Given the description of an element on the screen output the (x, y) to click on. 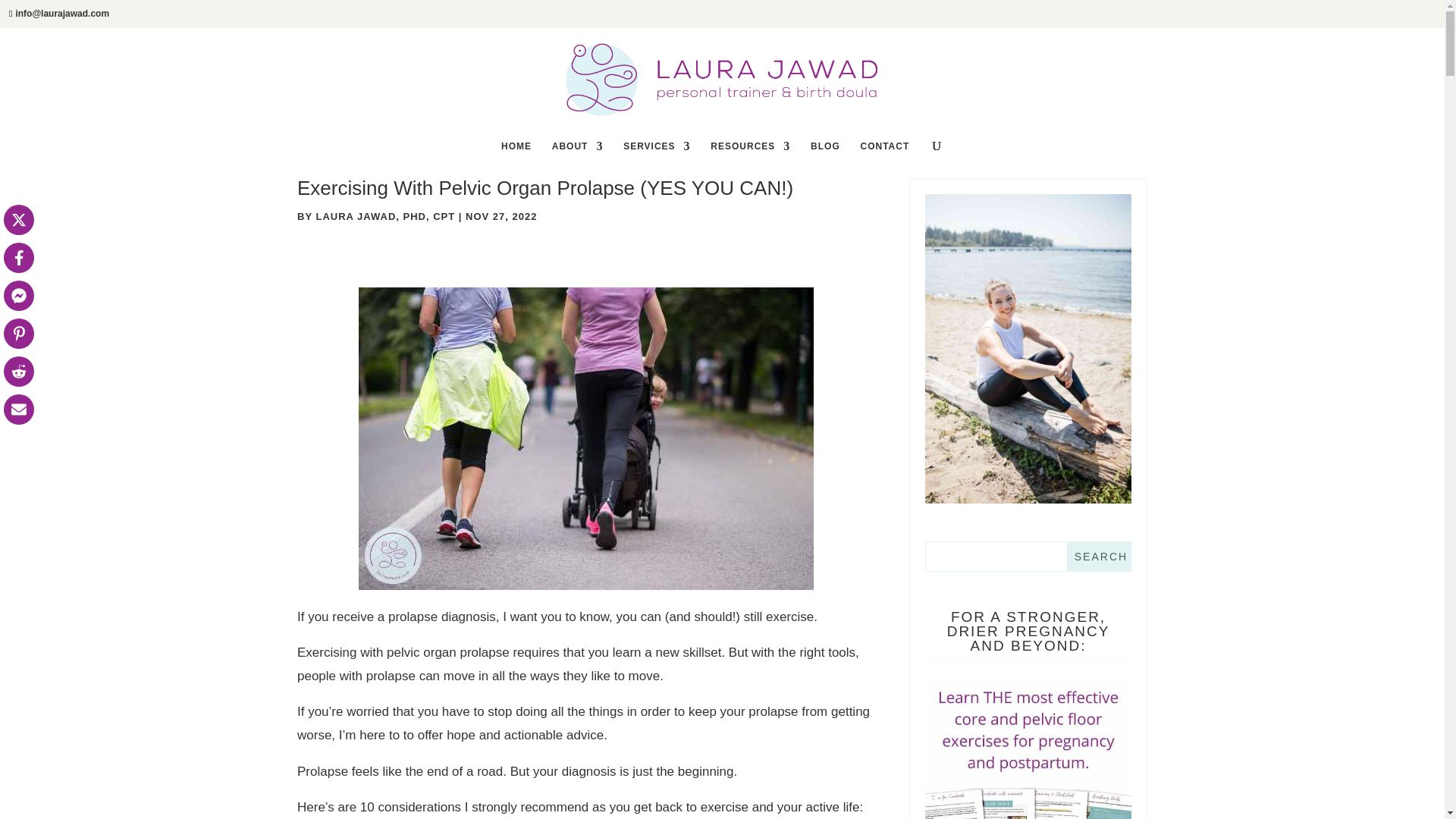
CONTACT (884, 155)
RESOURCES (750, 155)
HOME (515, 155)
ABOUT (577, 155)
Posts by Laura Jawad, PhD, CPT (384, 215)
SERVICES (656, 155)
LAURA JAWAD, PHD, CPT (384, 215)
Search (1099, 556)
BLOG (825, 155)
